Given the description of an element on the screen output the (x, y) to click on. 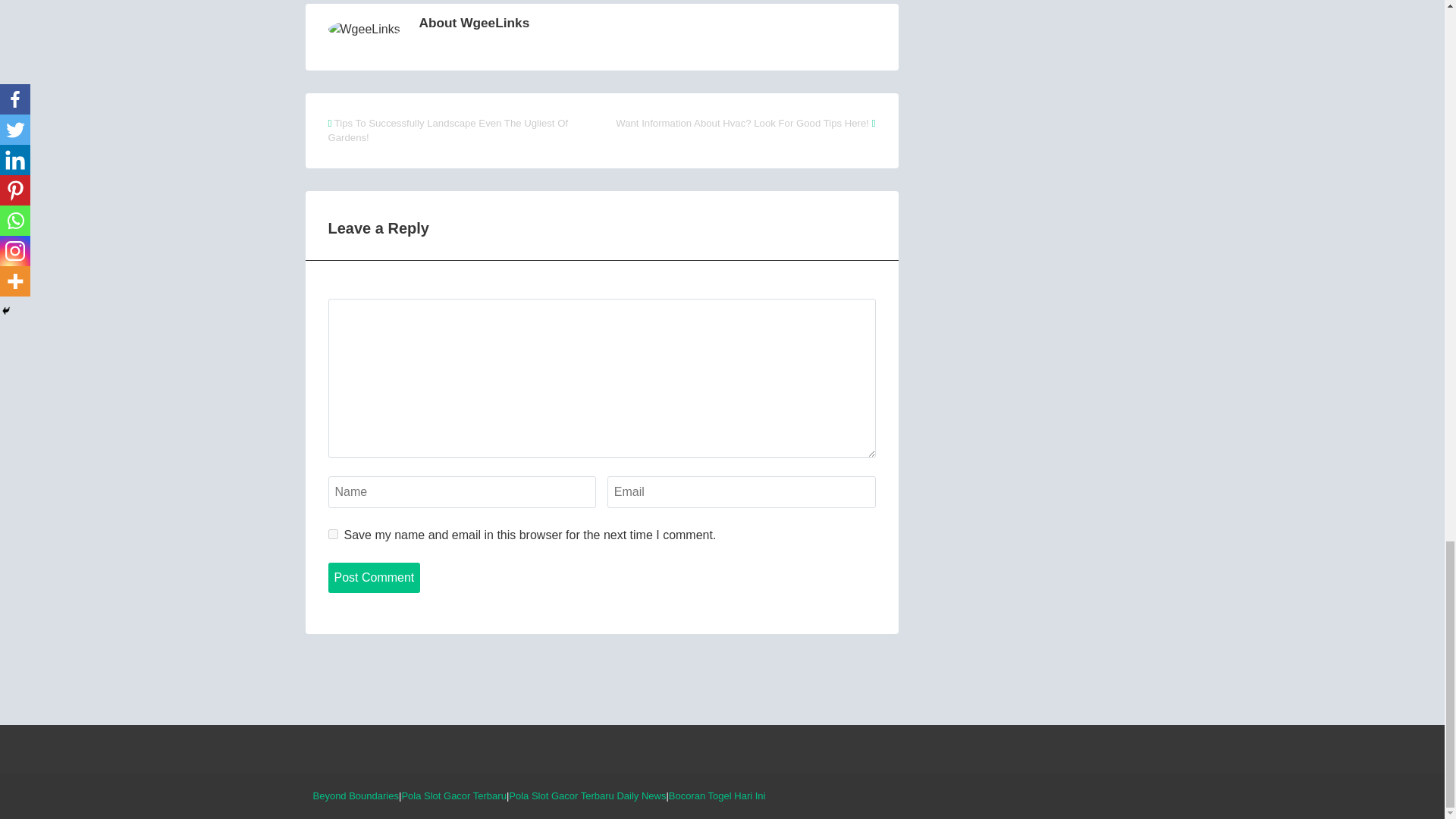
Post Comment (373, 577)
Want Information About Hvac? Look For Good Tips Here! (742, 122)
Post Comment (373, 577)
Tips To Successfully Landscape Even The Ugliest Of Gardens! (447, 130)
yes (332, 533)
